Given the description of an element on the screen output the (x, y) to click on. 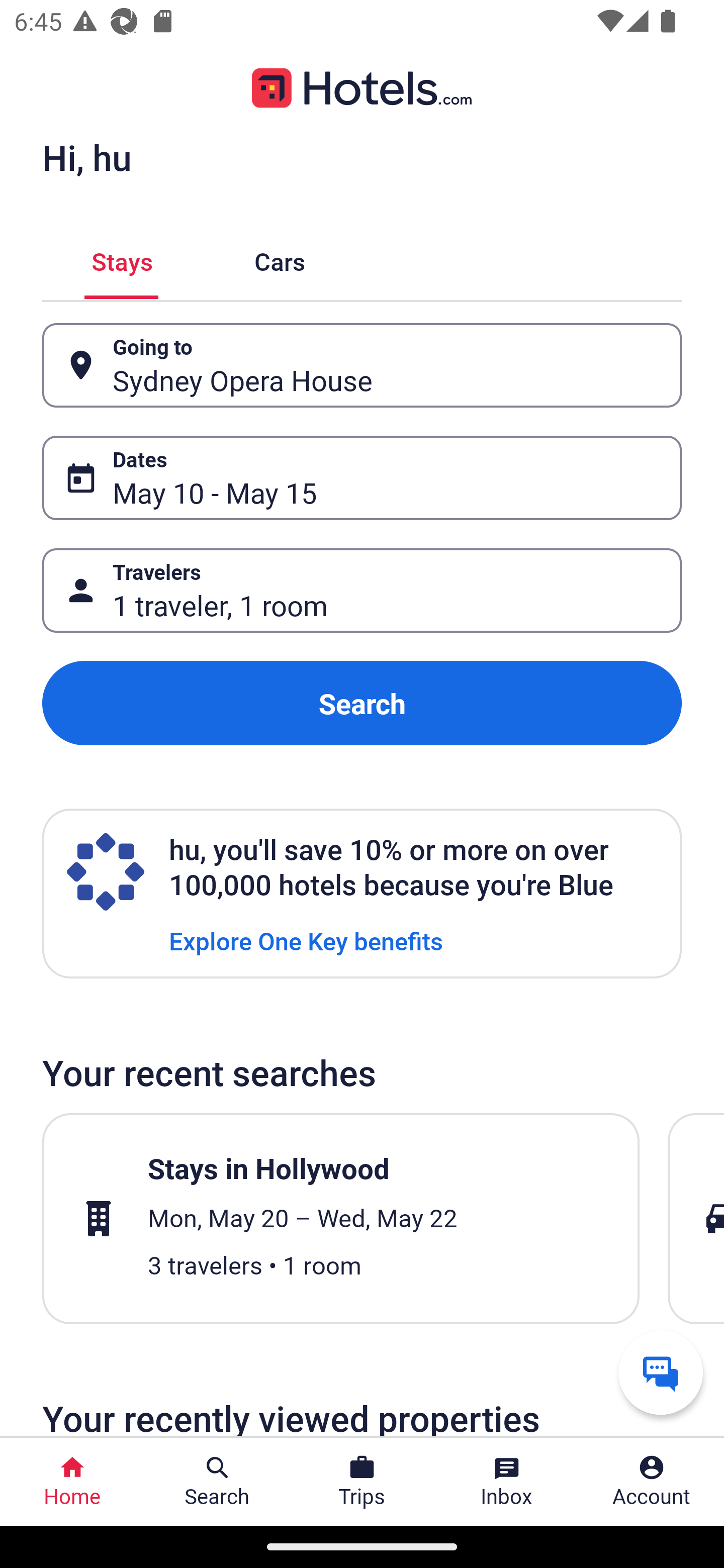
Hi, hu (86, 156)
Cars (279, 259)
Going to Button Sydney Opera House (361, 365)
Dates Button May 10 - May 15 (361, 477)
Travelers Button 1 traveler, 1 room (361, 590)
Search (361, 702)
Get help from a virtual agent (660, 1371)
Search Search Button (216, 1481)
Trips Trips Button (361, 1481)
Inbox Inbox Button (506, 1481)
Account Profile. Button (651, 1481)
